Given the description of an element on the screen output the (x, y) to click on. 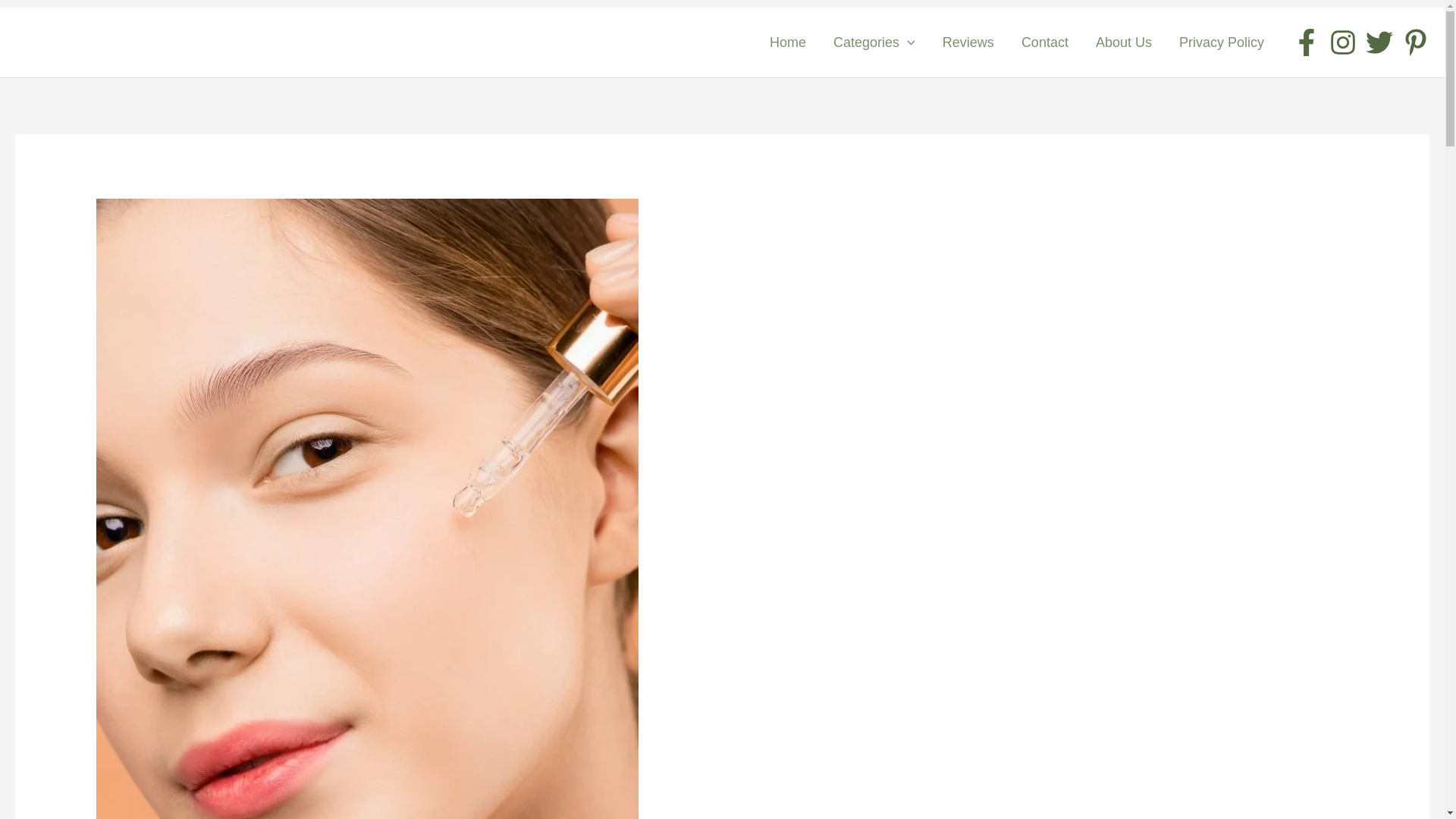
Privacy Policy (1222, 41)
About Us (1123, 41)
Contact (1044, 41)
Reviews (967, 41)
Categories (873, 41)
Home (787, 41)
